Given the description of an element on the screen output the (x, y) to click on. 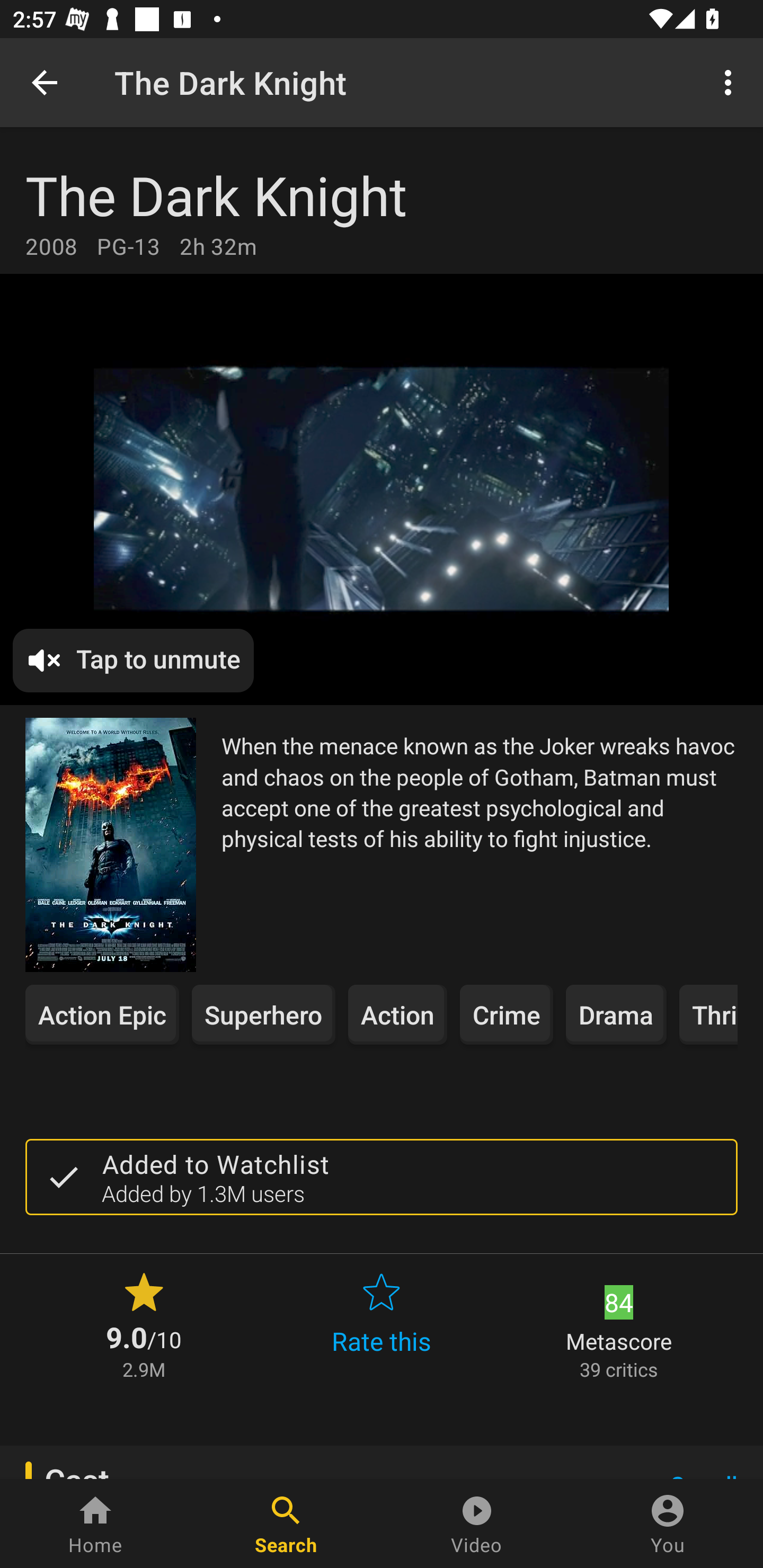
More options (731, 81)
Tap to unmute (381, 489)
Tap to unmute (133, 660)
Action Epic (102, 1014)
Superhero (263, 1014)
Action (397, 1014)
Crime (506, 1014)
Drama (616, 1014)
Added to Watchlist Added by 1.3M users (381, 1176)
9.0 /10 2.9M (143, 1323)
Rate this (381, 1323)
84 Metascore 39 critics (618, 1323)
Home (95, 1523)
Video (476, 1523)
You (667, 1523)
